Given the description of an element on the screen output the (x, y) to click on. 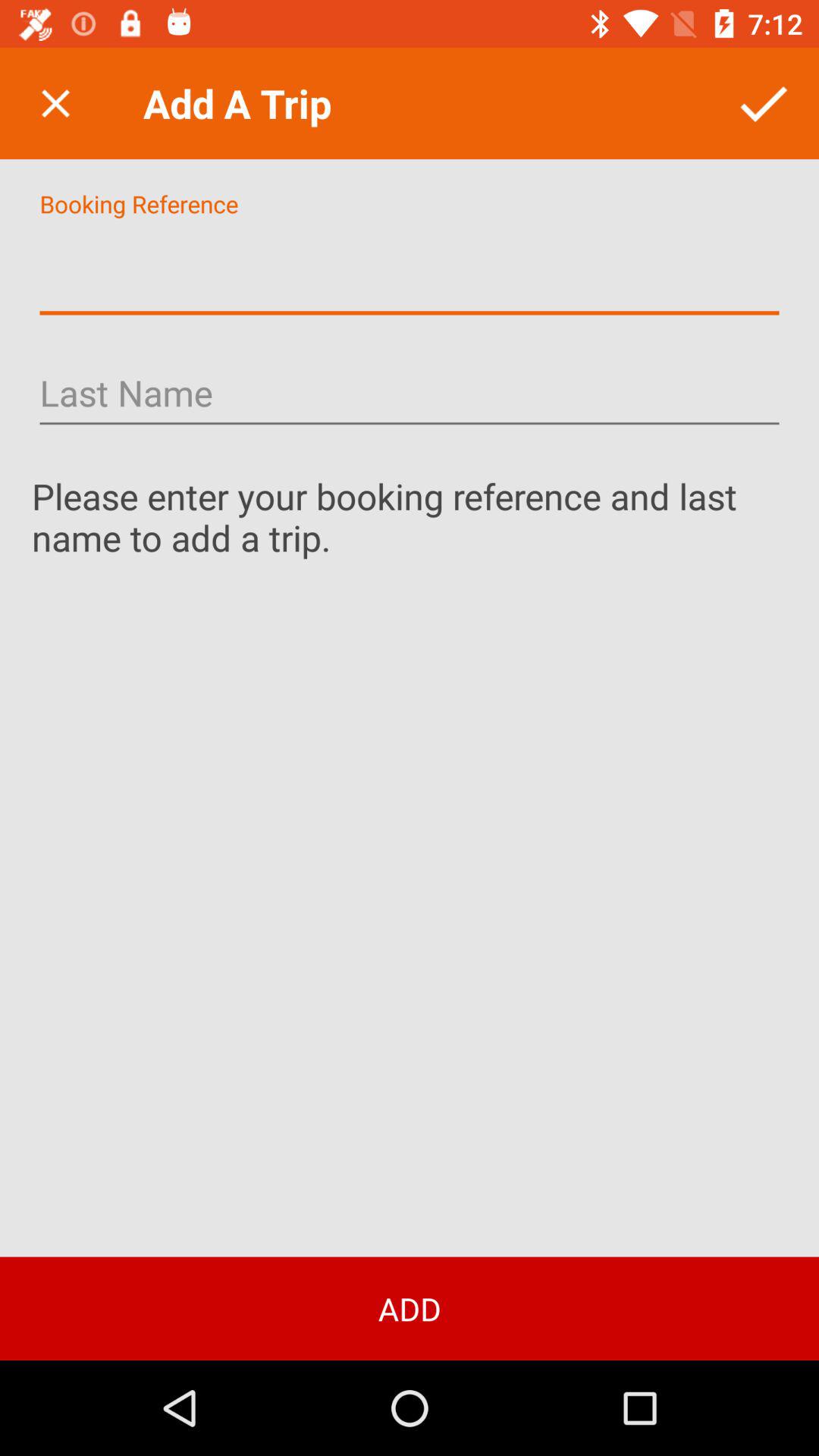
input booking reference (409, 270)
